Given the description of an element on the screen output the (x, y) to click on. 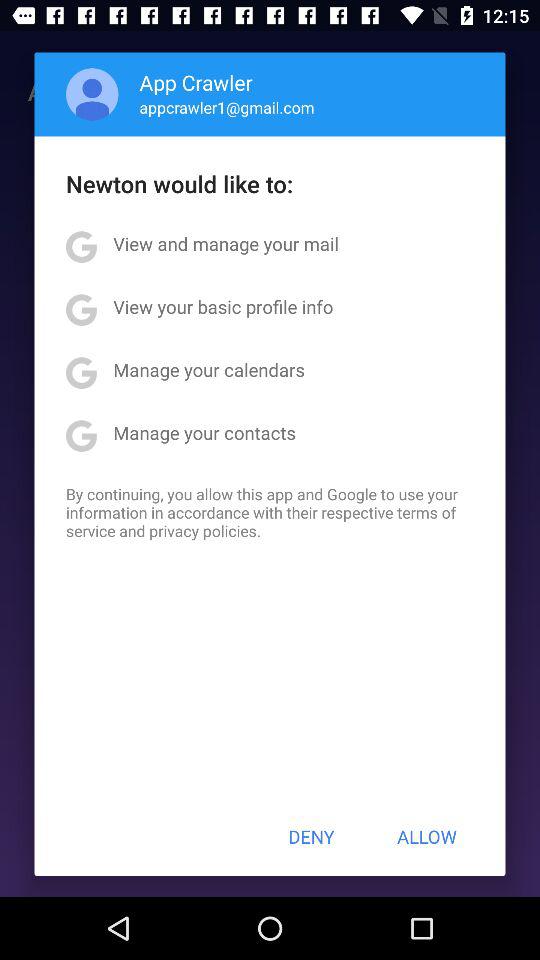
select view and manage item (225, 243)
